Given the description of an element on the screen output the (x, y) to click on. 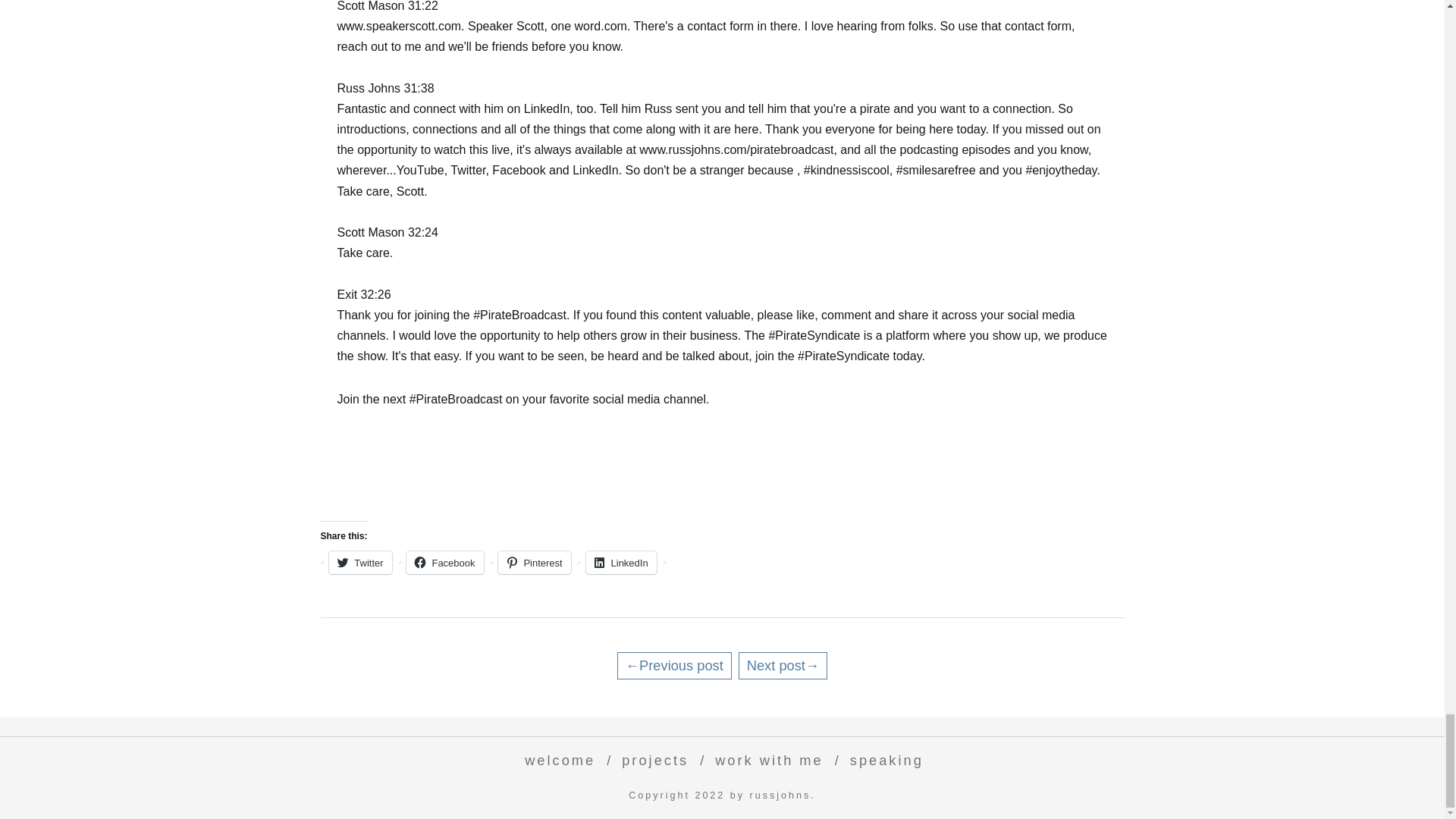
speaking (882, 760)
work with me (765, 760)
welcome (555, 760)
Twitter (360, 562)
Click to share on LinkedIn (621, 562)
Facebook (444, 562)
Click to share on Facebook (444, 562)
Click to share on Twitter (360, 562)
projects (651, 760)
Click to share on Pinterest (533, 562)
